Given the description of an element on the screen output the (x, y) to click on. 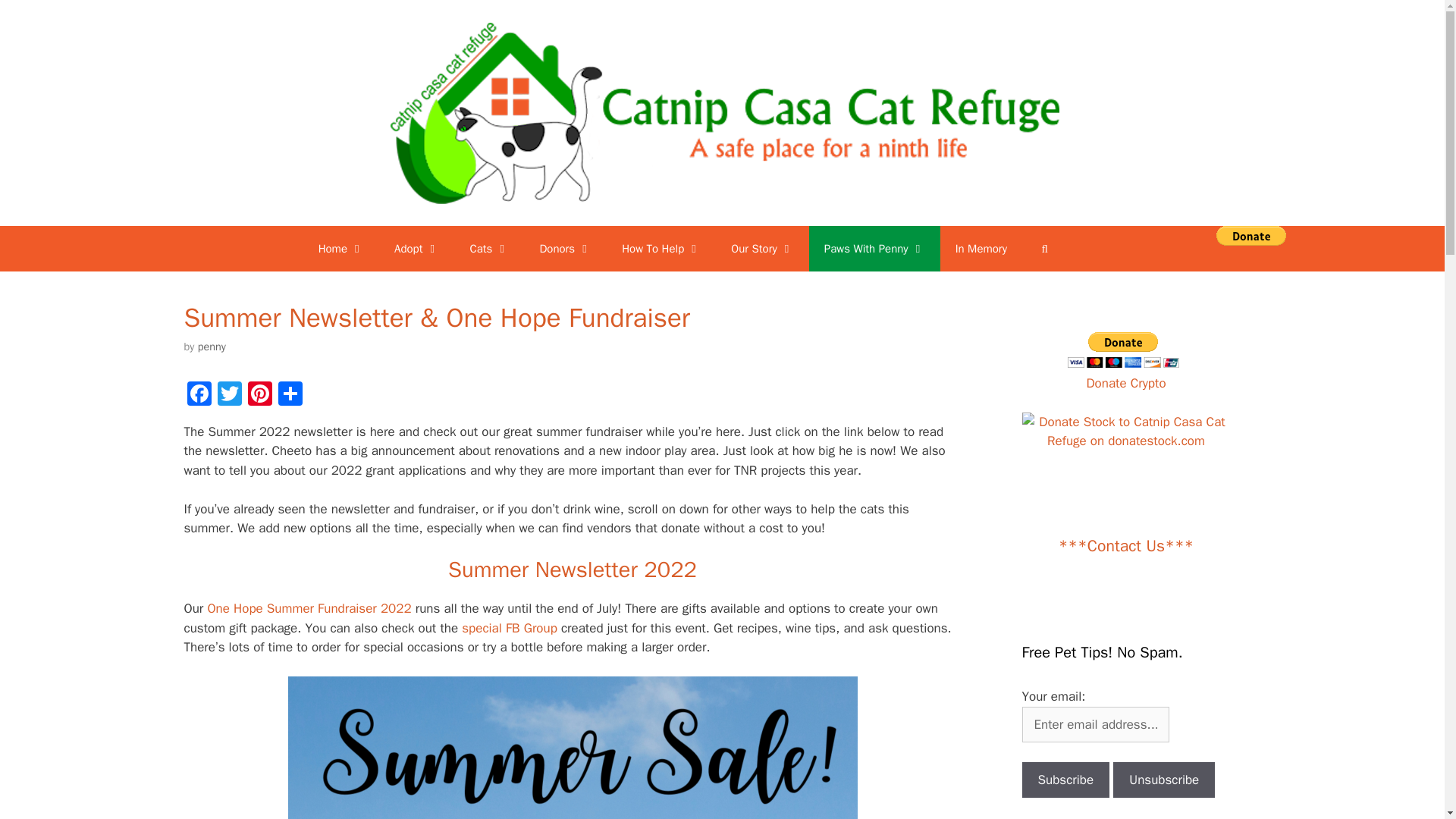
View all posts by penny (211, 345)
penny (572, 747)
Facebook (198, 395)
Unsubscribe (1163, 780)
Cats (489, 248)
Donate Stock to Catnip Casa Cat Refuge on donatestock.com (1126, 431)
Contact Us (1125, 545)
Donors (565, 248)
Our Story (762, 248)
Paws With Penny (874, 248)
